Given the description of an element on the screen output the (x, y) to click on. 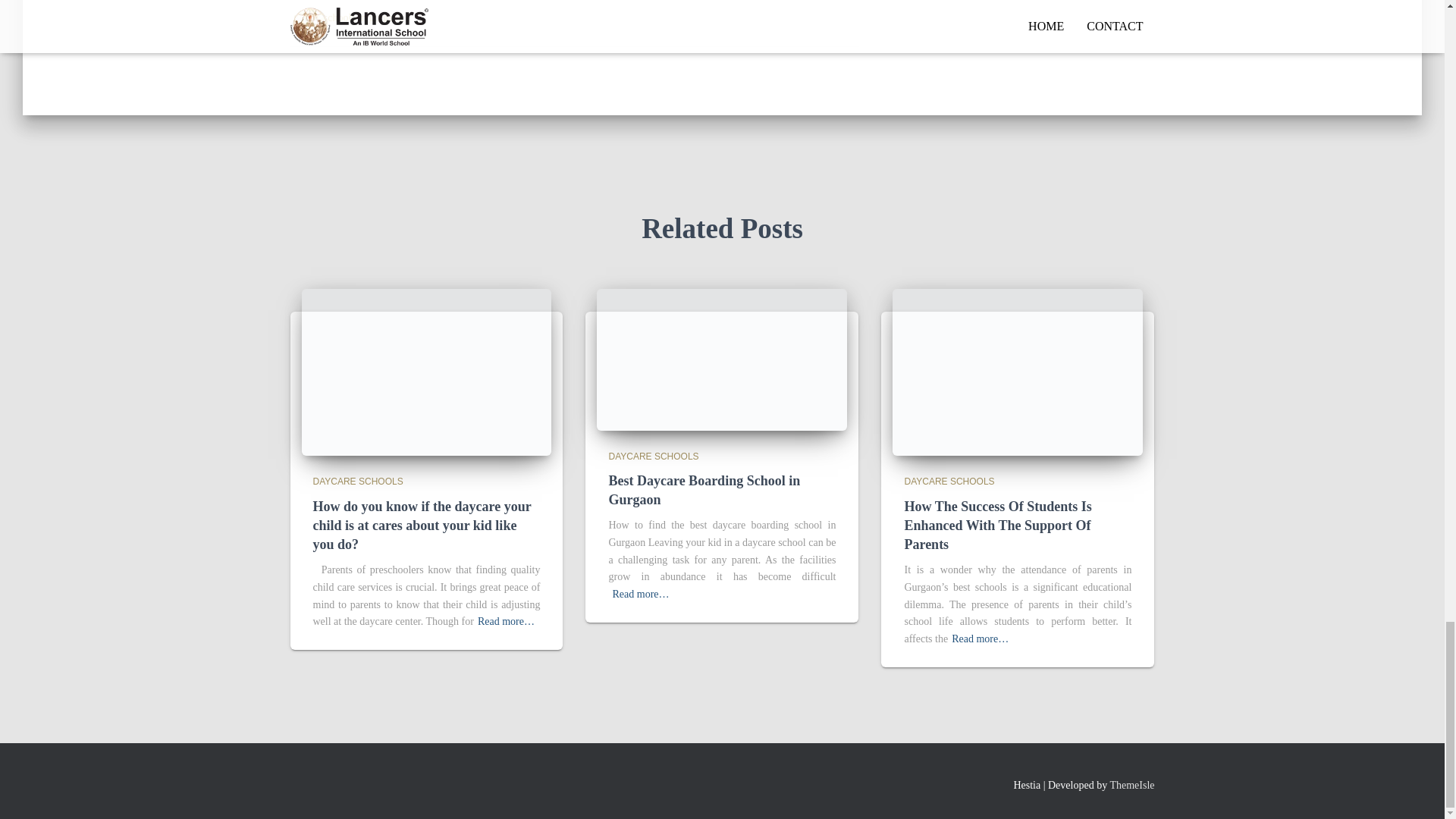
View all posts in Daycare Schools (358, 480)
DAYCARE SCHOOLS (653, 456)
DAYCARE SCHOOLS (949, 480)
Best Daycare Boarding School in Gurgaon (703, 489)
View all posts in Daycare Schools (949, 480)
Best Daycare Boarding School in Gurgaon (721, 358)
View all posts in Daycare Schools (653, 456)
